Given the description of an element on the screen output the (x, y) to click on. 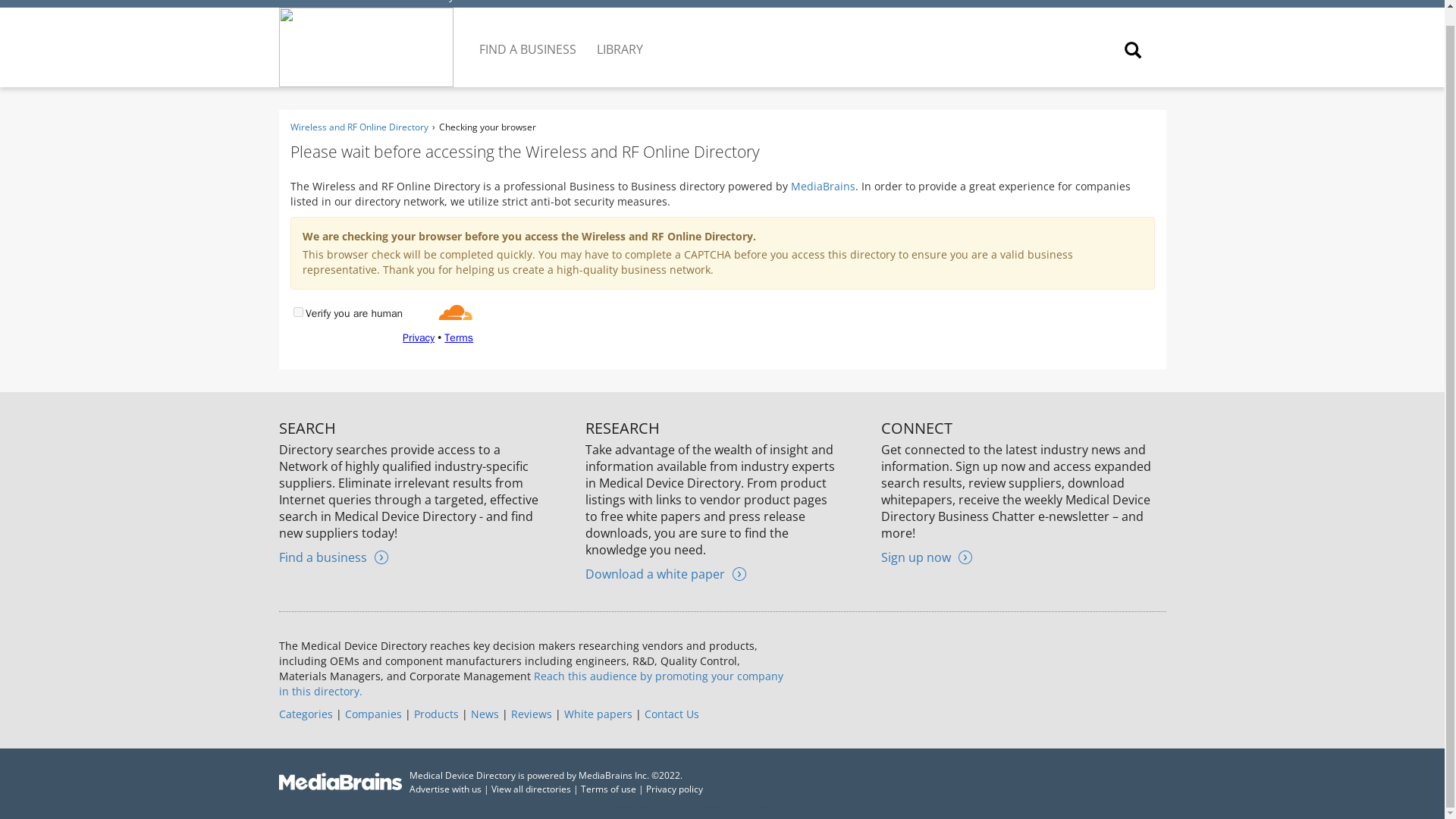
Wireless and RF Online Directory (358, 126)
Sign up now (926, 556)
Wireless and RF Online Directory (370, 1)
Reviews (531, 713)
White papers (597, 713)
Advertise with us (445, 788)
Products (435, 713)
Find a business (333, 556)
MediaBrains (822, 186)
Privacy policy (674, 788)
Contact Us (671, 713)
Companies (372, 713)
View all directories (531, 788)
Categories (306, 713)
